Given the description of an element on the screen output the (x, y) to click on. 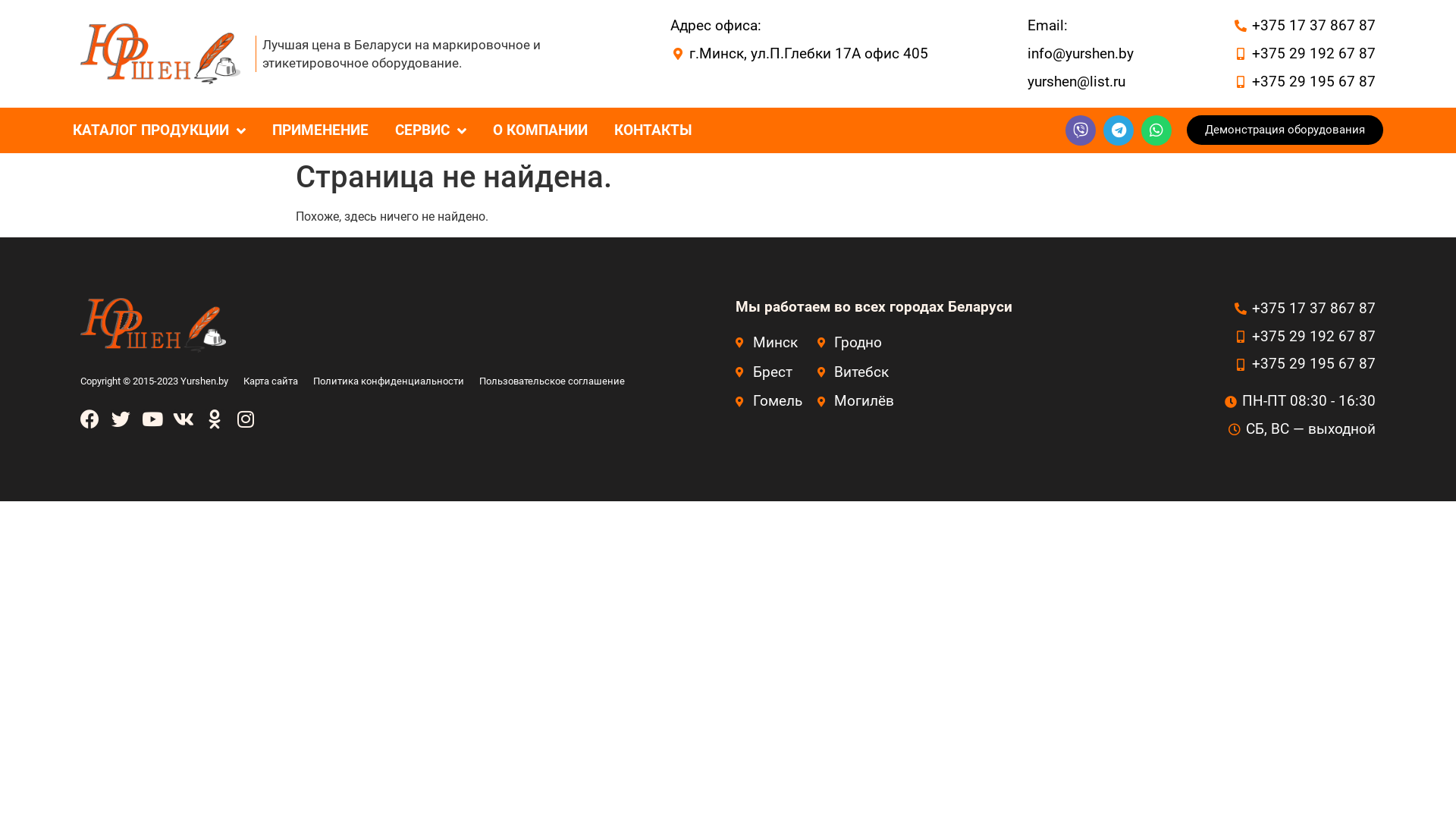
+375 29 192 67 87 Element type: text (1304, 337)
+375 29 192 67 87 Element type: text (1304, 54)
+375 17 37 867 87 Element type: text (1304, 309)
+375 29 195 67 87 Element type: text (1304, 82)
+375 29 195 67 87 Element type: text (1304, 364)
+375 17 37 867 87 Element type: text (1304, 26)
